Given the description of an element on the screen output the (x, y) to click on. 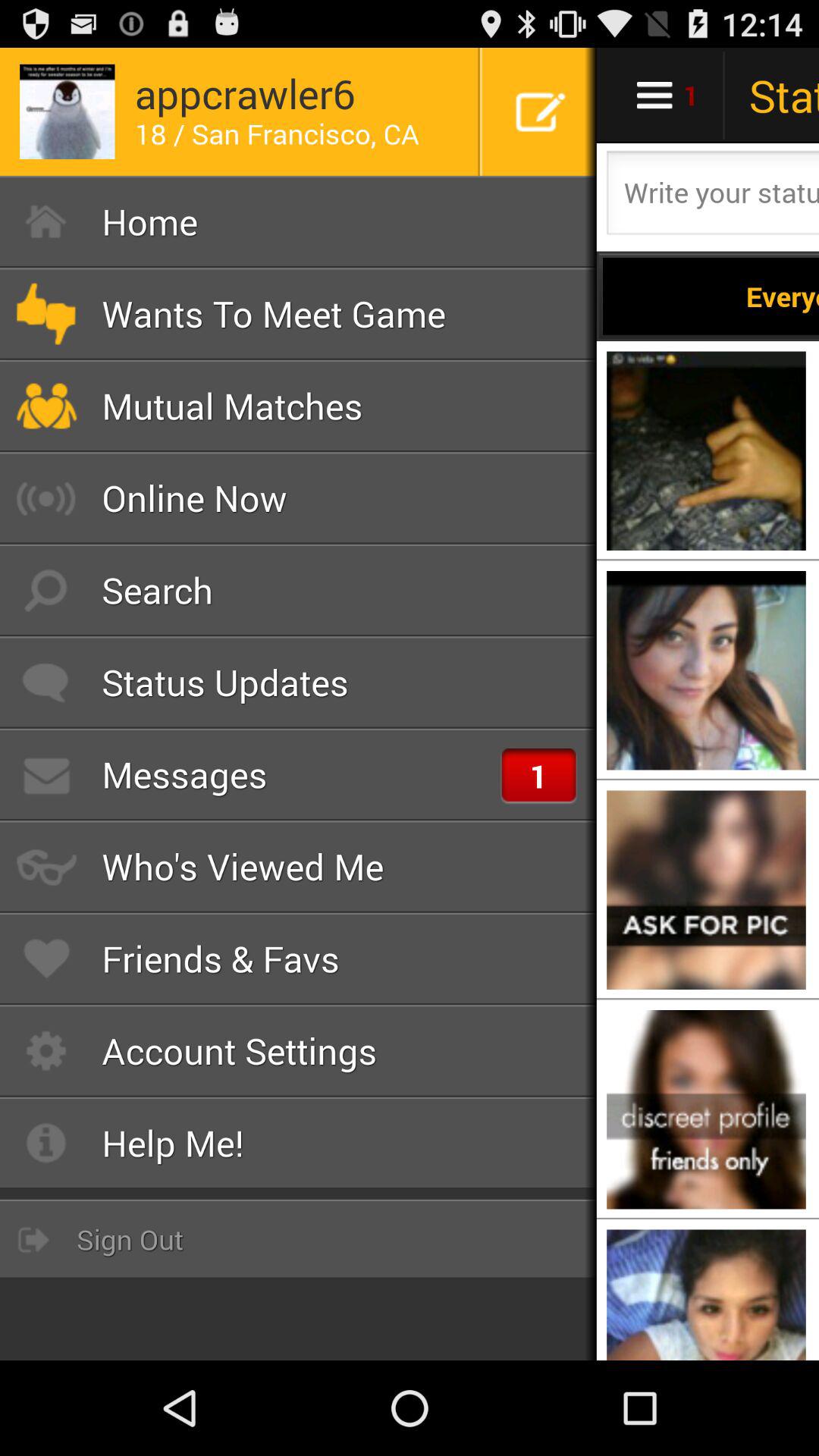
tap the button below mutual matches button (298, 498)
